Given the description of an element on the screen output the (x, y) to click on. 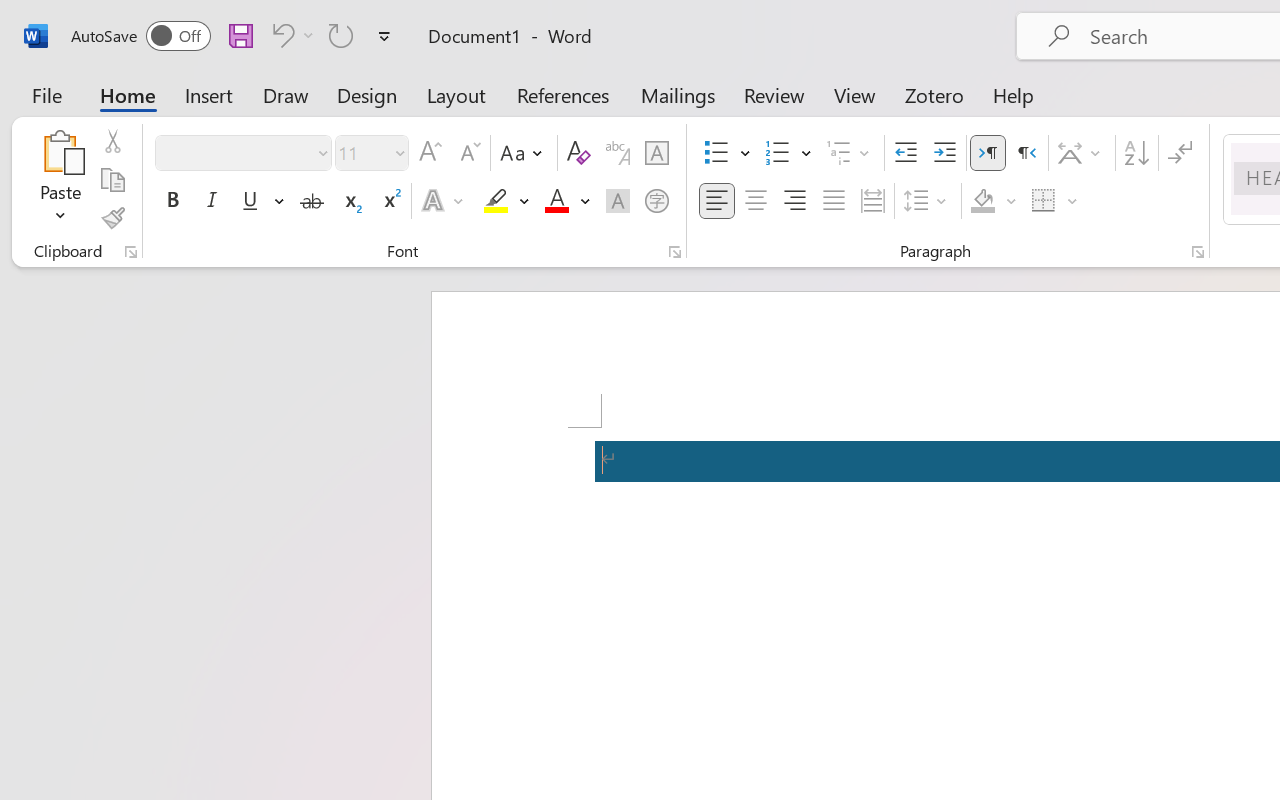
Repeat Accessibility Checker (341, 35)
Left-to-Right (988, 153)
Shading No Color (982, 201)
